Given the description of an element on the screen output the (x, y) to click on. 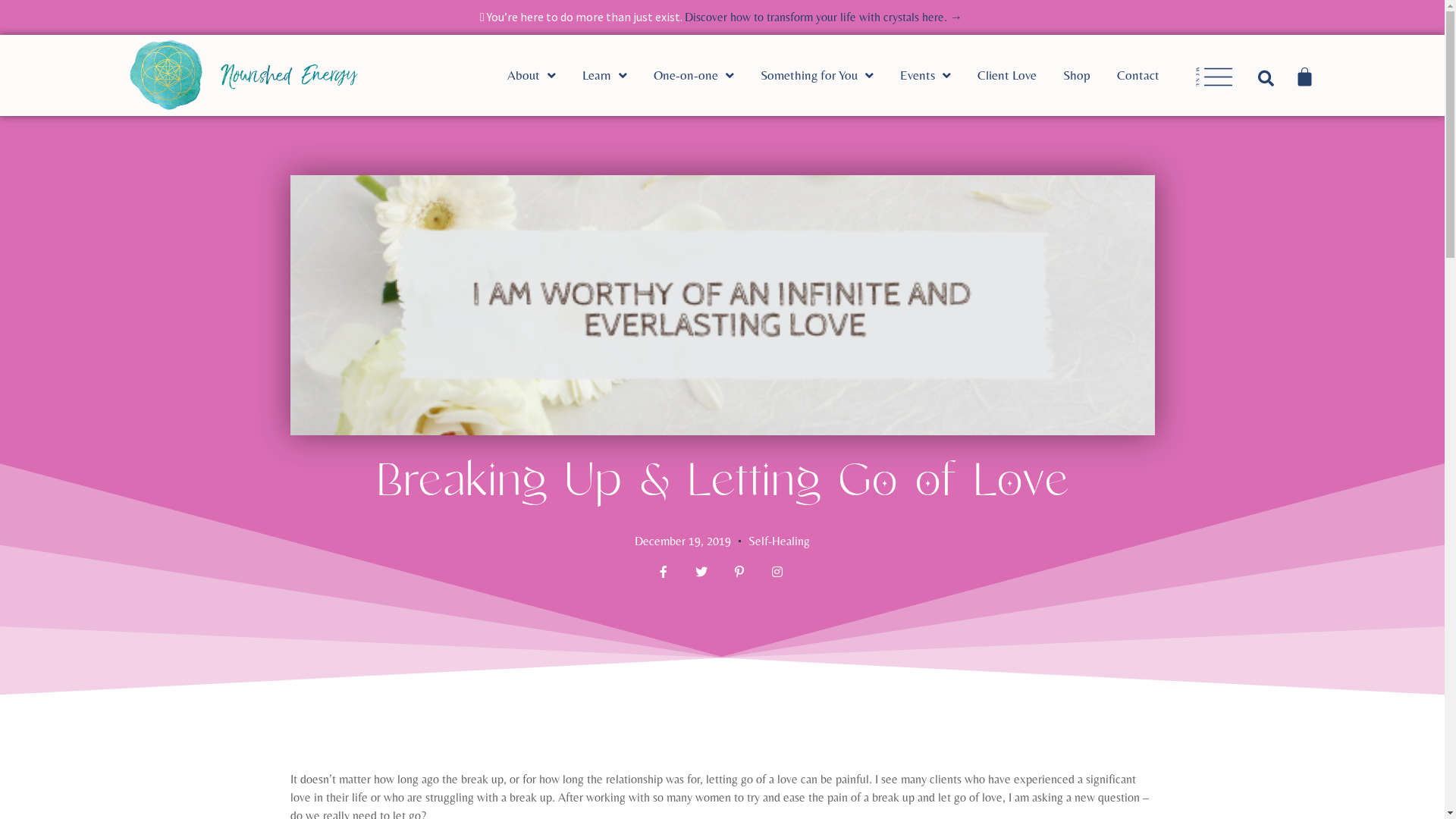
Contact Element type: text (1151, 75)
Events Element type: text (938, 75)
Client Love Element type: text (1020, 75)
December 19, 2019 Element type: text (682, 541)
Something for You Element type: text (830, 75)
About Element type: text (544, 75)
Learn Element type: text (617, 75)
One-on-one Element type: text (706, 75)
Self-Healing Element type: text (778, 540)
Shop Element type: text (1090, 75)
